Given the description of an element on the screen output the (x, y) to click on. 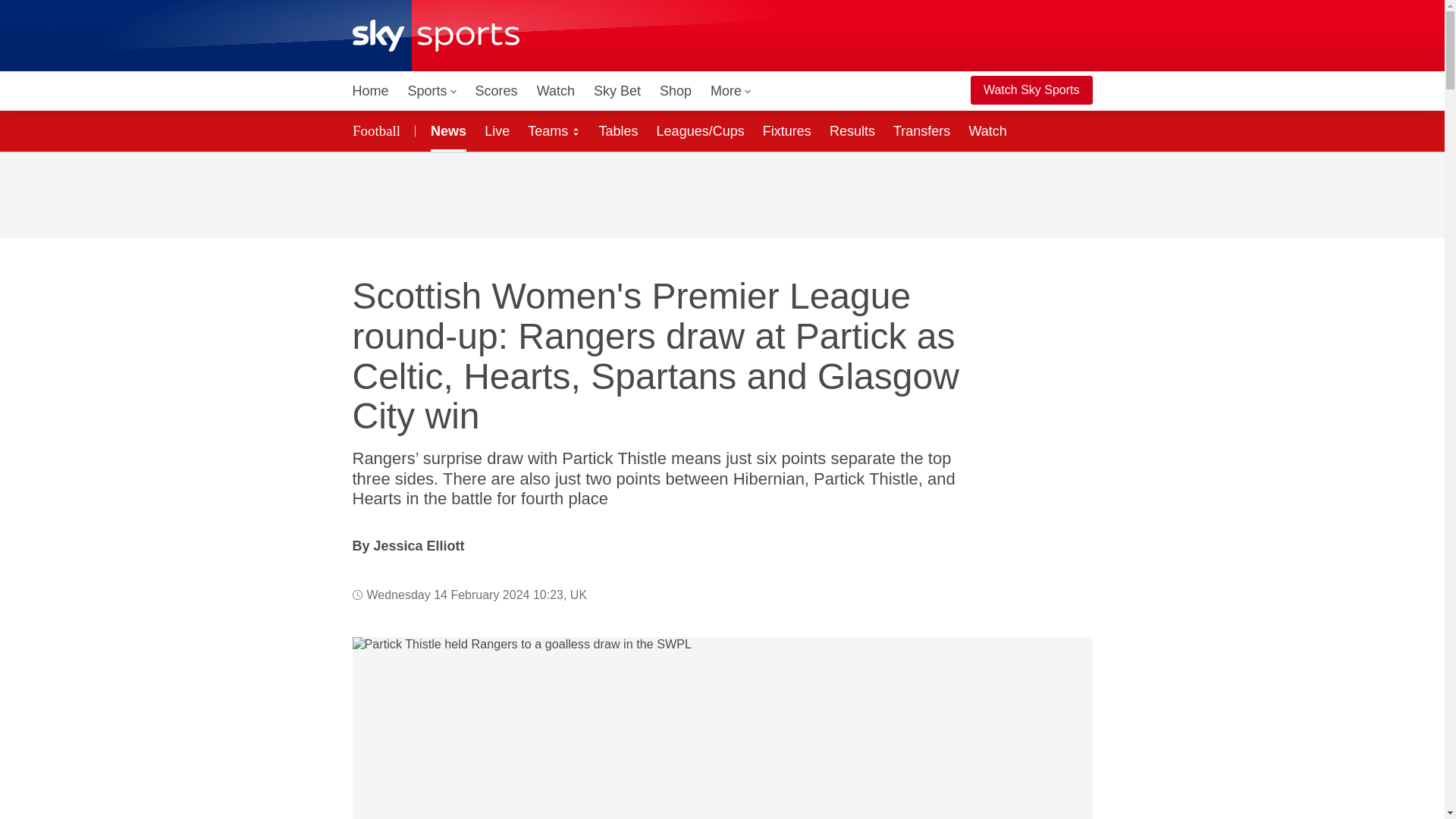
Shop (675, 91)
Home (369, 91)
Football (378, 130)
Sky Bet (616, 91)
Watch (555, 91)
Scores (496, 91)
News (445, 130)
Live (497, 130)
Sports (432, 91)
Watch Sky Sports (1032, 90)
